Given the description of an element on the screen output the (x, y) to click on. 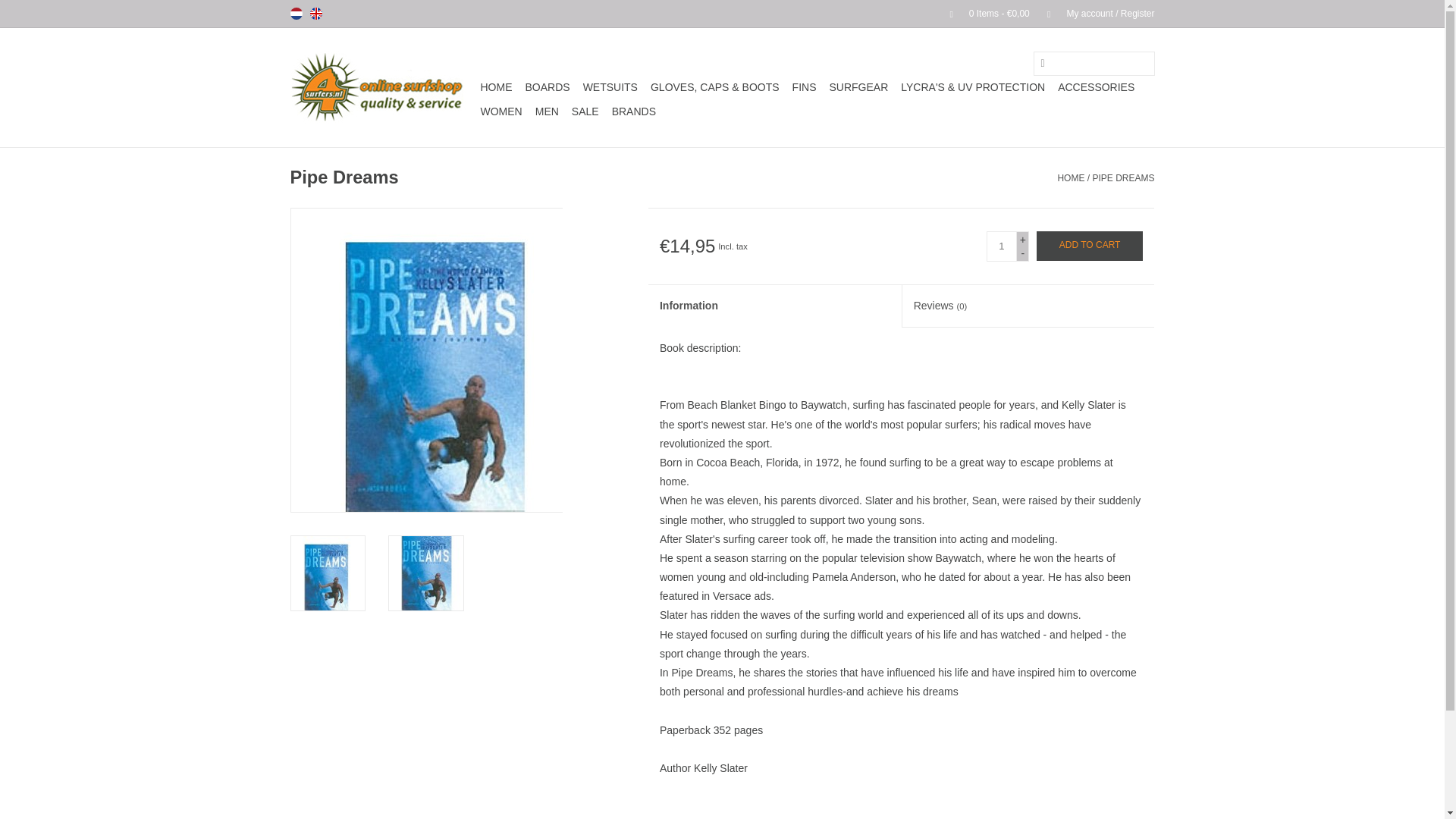
English (314, 13)
WETSUITS (610, 87)
English (314, 13)
BOARDS (546, 87)
My account (1093, 13)
Nederlands (295, 13)
Cart (983, 13)
1 (1001, 245)
4surfers.nl (382, 87)
Nederlands (295, 13)
HOME (496, 87)
Boards (546, 87)
